Given the description of an element on the screen output the (x, y) to click on. 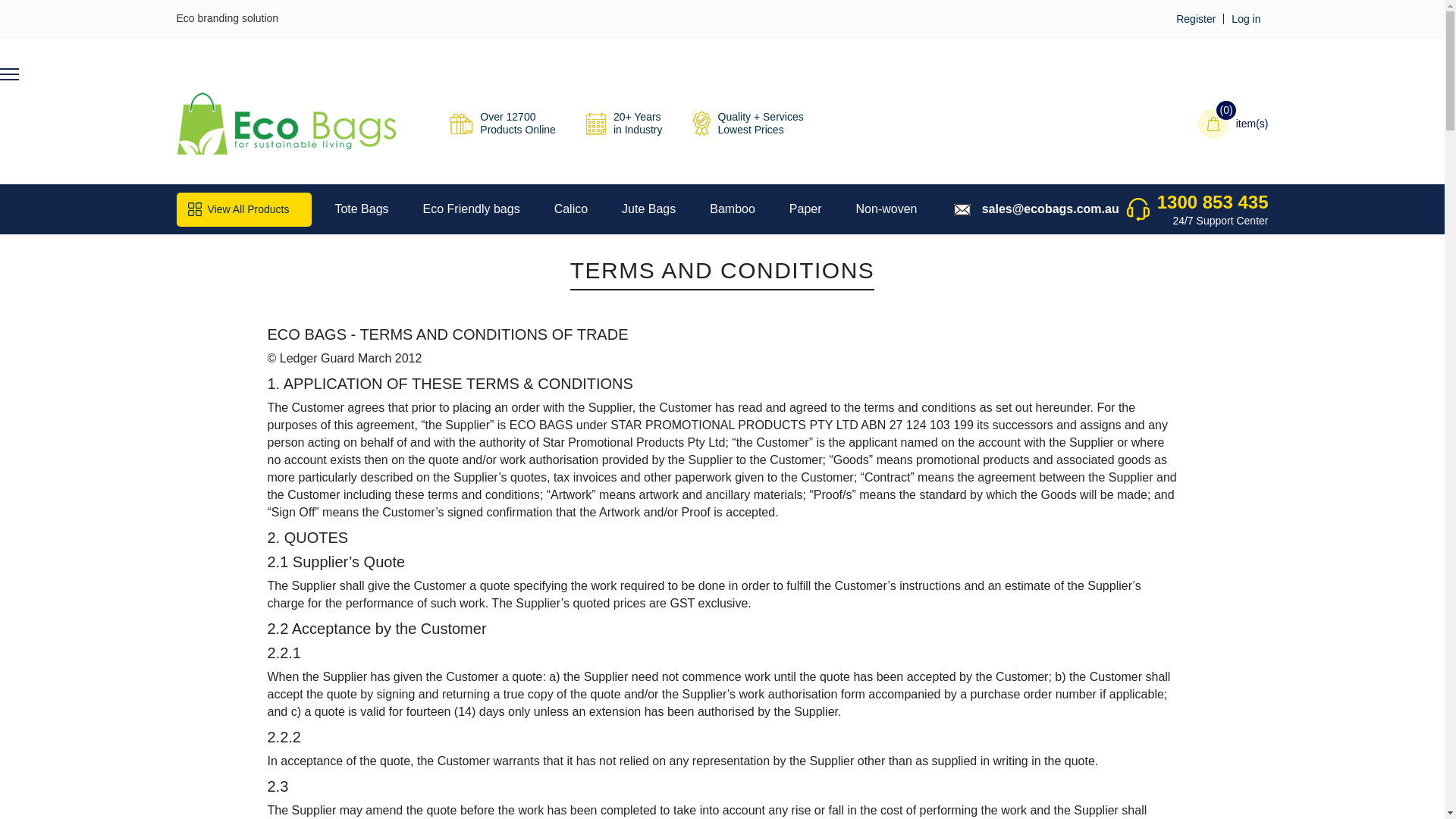
Eco Friendly bags (471, 209)
Log in (1245, 18)
View All Products (243, 209)
Eco branding solution (227, 18)
Tote Bags (361, 209)
Register (1195, 18)
